Given the description of an element on the screen output the (x, y) to click on. 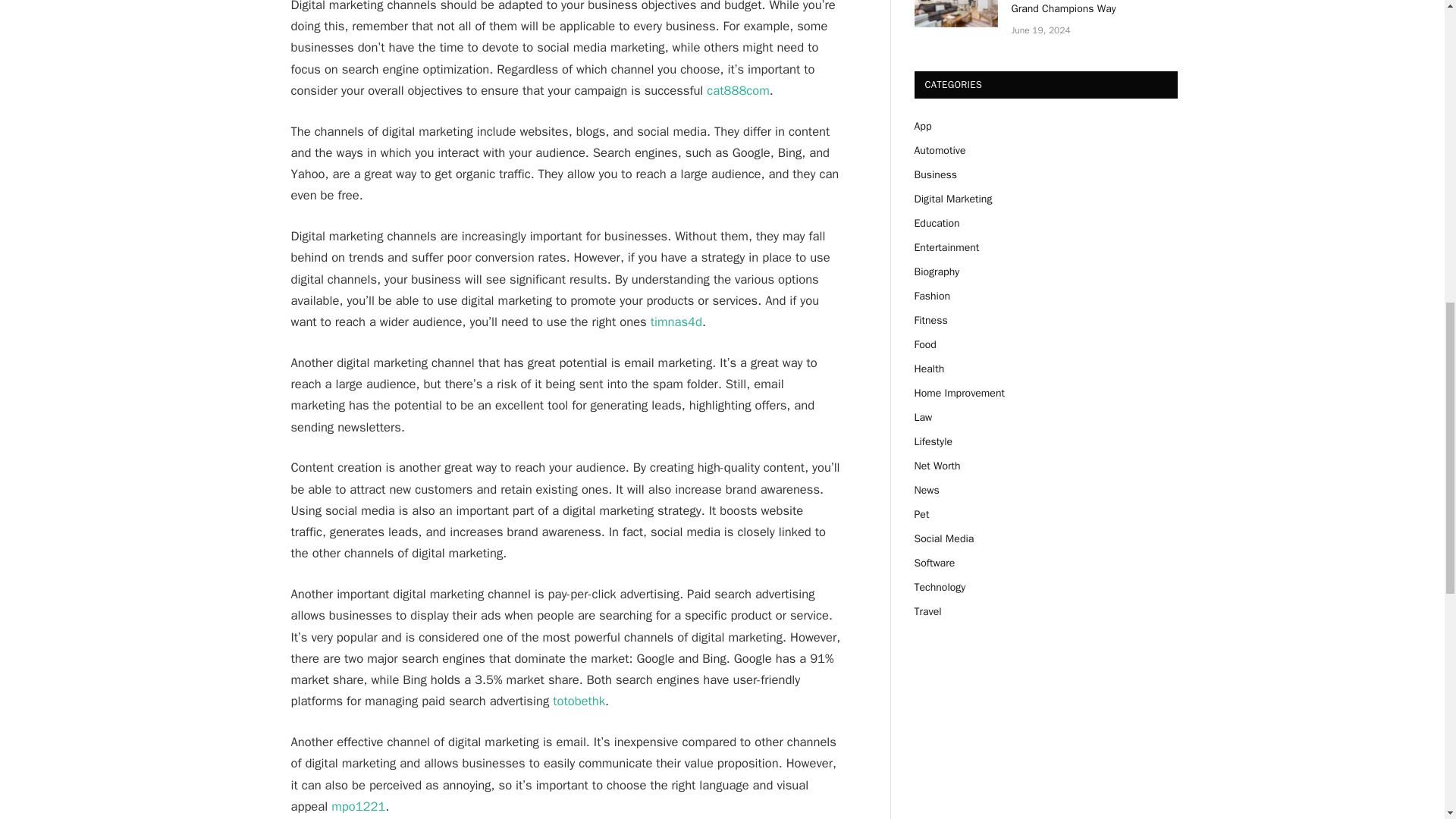
totobethk (579, 700)
timnas4d (675, 321)
cat888com (738, 90)
mpo1221 (358, 806)
